Given the description of an element on the screen output the (x, y) to click on. 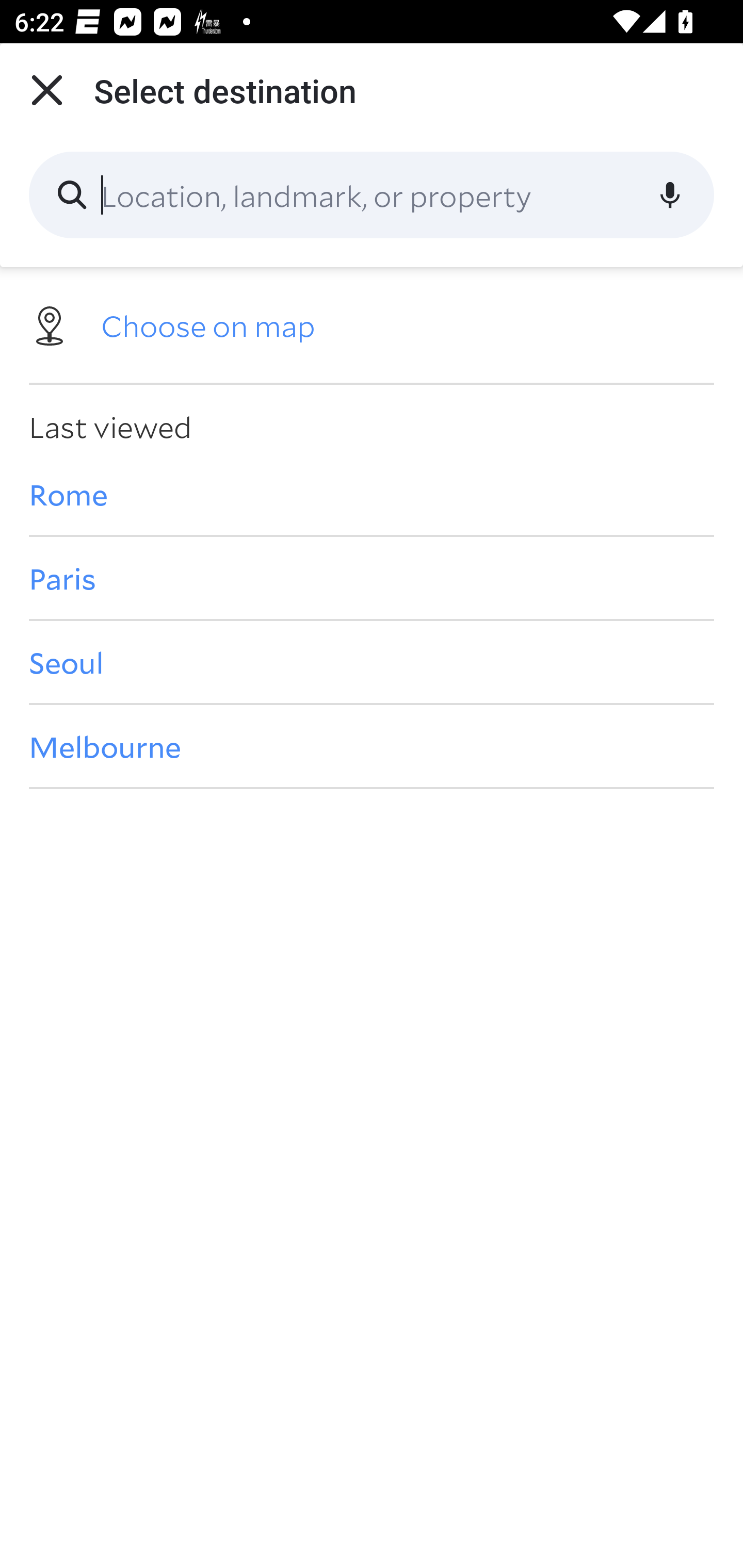
Location, landmark, or property (371, 195)
Choose on map (371, 324)
Rome (371, 493)
Paris (371, 577)
Seoul (371, 661)
Melbourne (371, 746)
